Given the description of an element on the screen output the (x, y) to click on. 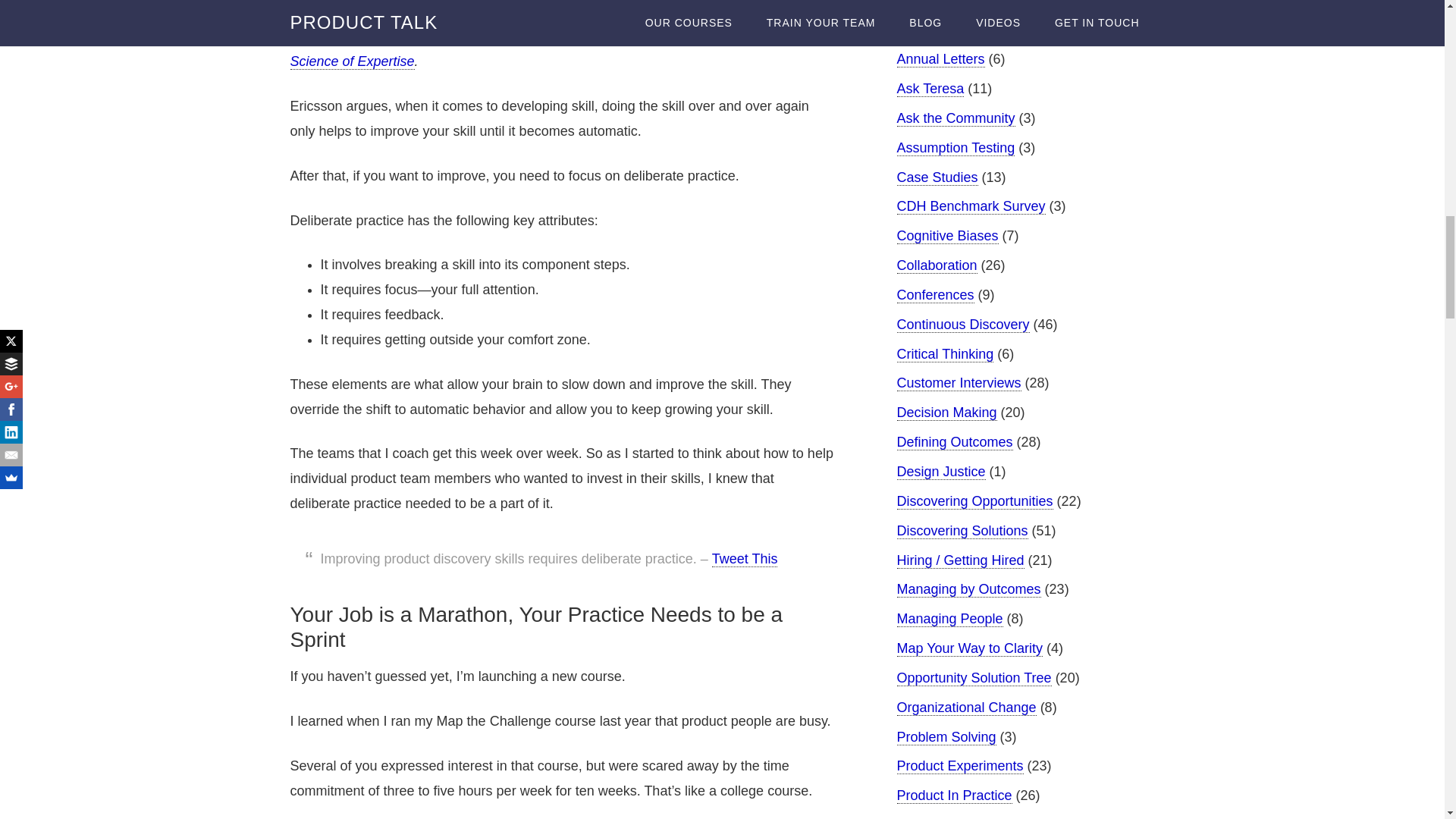
Peak: Secrets from the New Science of Expertise (537, 48)
Tweet This (744, 559)
